Given the description of an element on the screen output the (x, y) to click on. 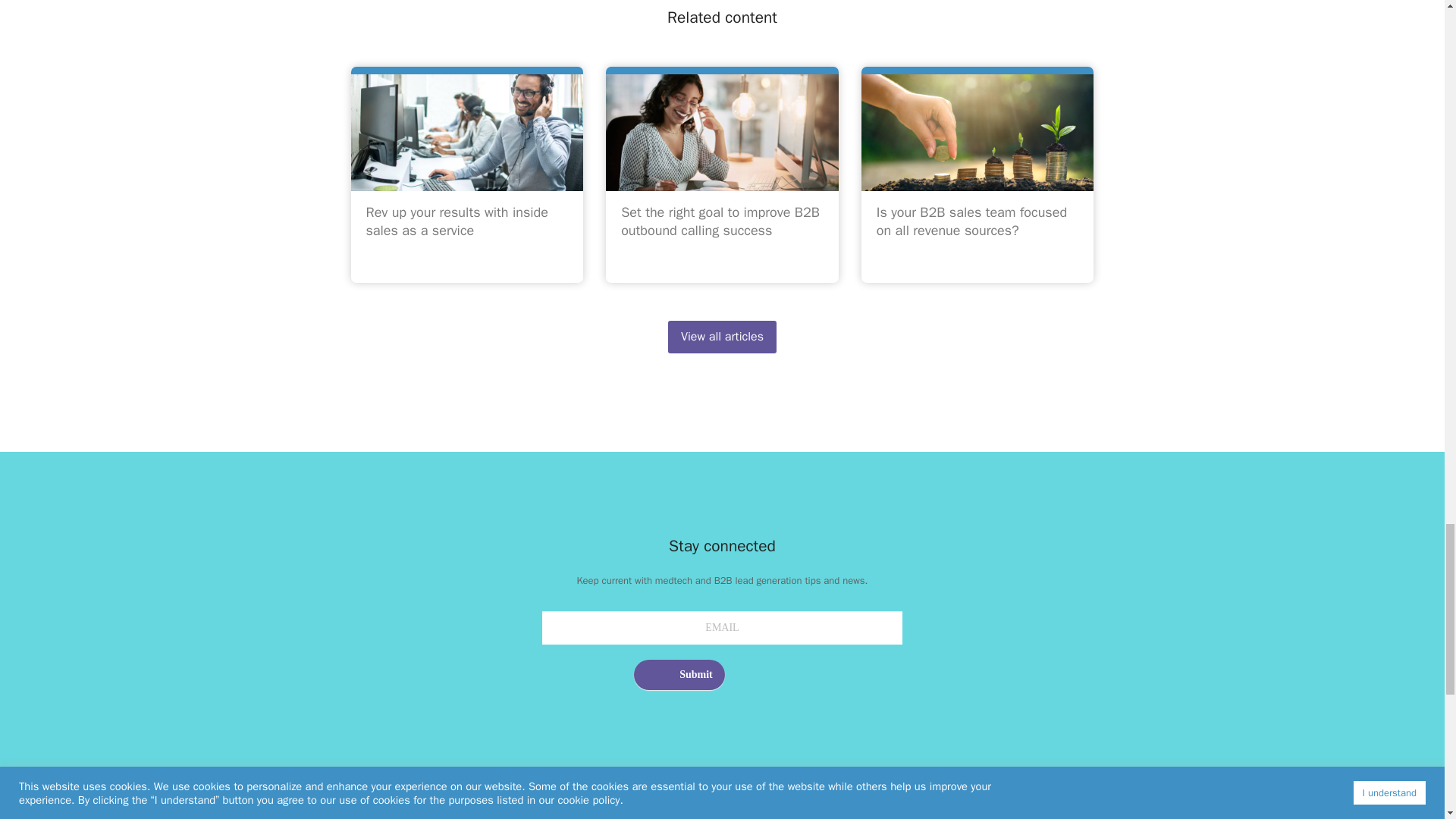
View all articles (722, 337)
Rev up your results with inside sales as a service (456, 221)
Is your B2B sales team focused on all revenue sources? (971, 221)
Submit (679, 675)
Set the right goal to improve B2B outbound calling success (720, 221)
